Given the description of an element on the screen output the (x, y) to click on. 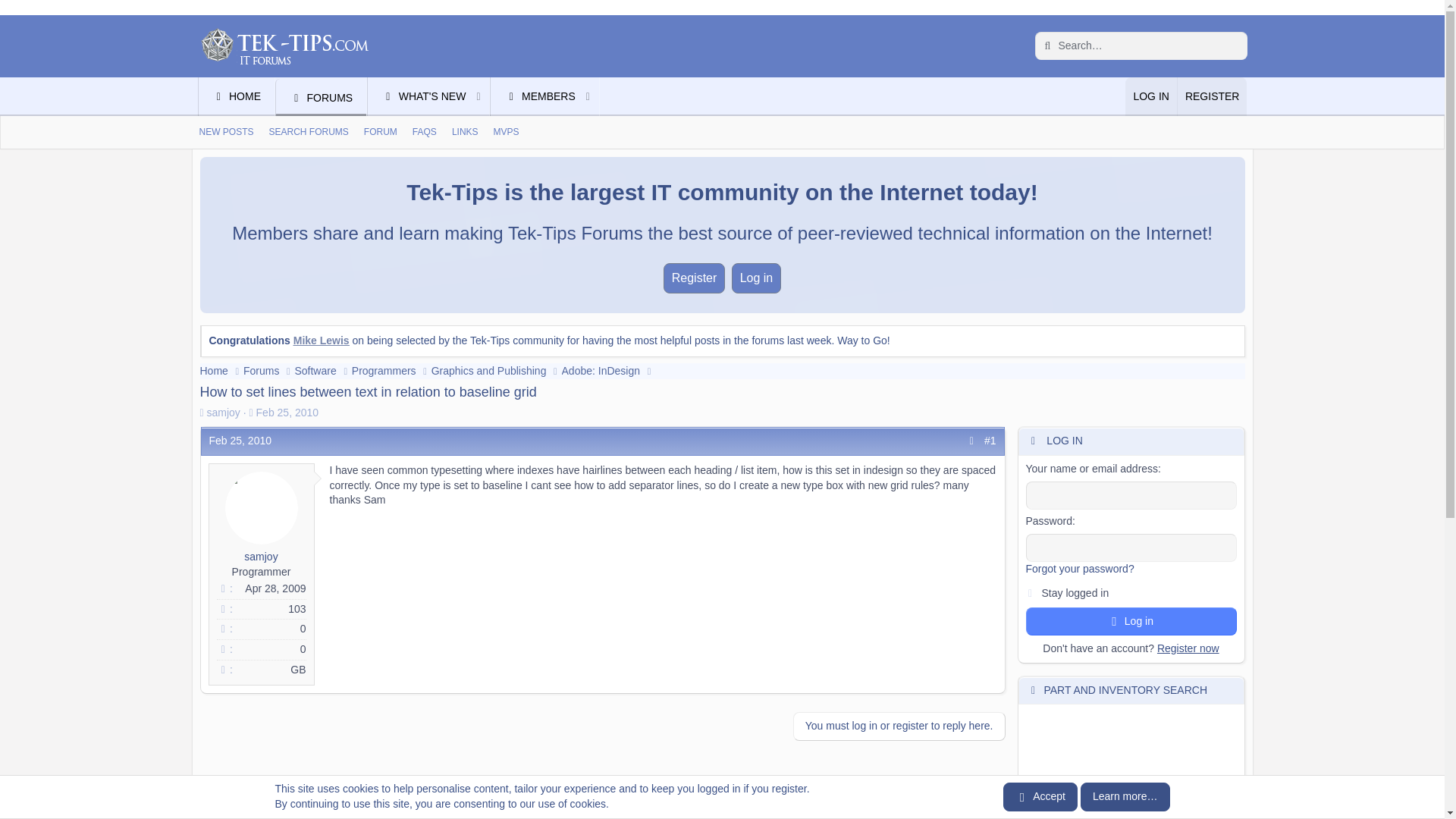
REGISTER (1211, 96)
Feb 25, 2010 at 1:53 AM (397, 113)
3rd party ad content (721, 149)
FORUMS (287, 412)
MEMBERS (476, 785)
FORUM (321, 97)
HOME (533, 96)
LINKS (380, 131)
